Given the description of an element on the screen output the (x, y) to click on. 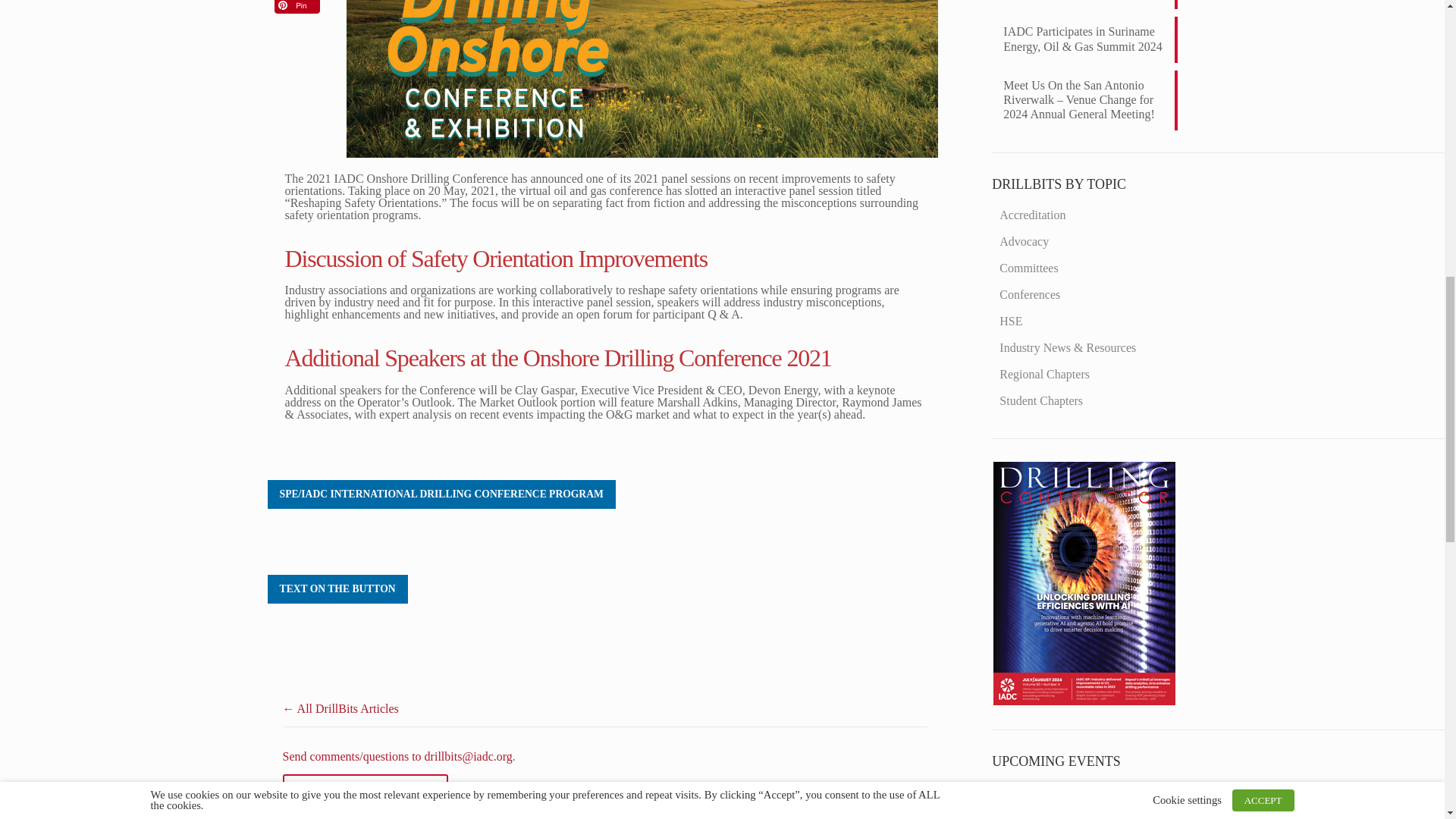
Recent Drilling News (1083, 700)
Drilling Onshore Conference Event Page (337, 589)
